Given the description of an element on the screen output the (x, y) to click on. 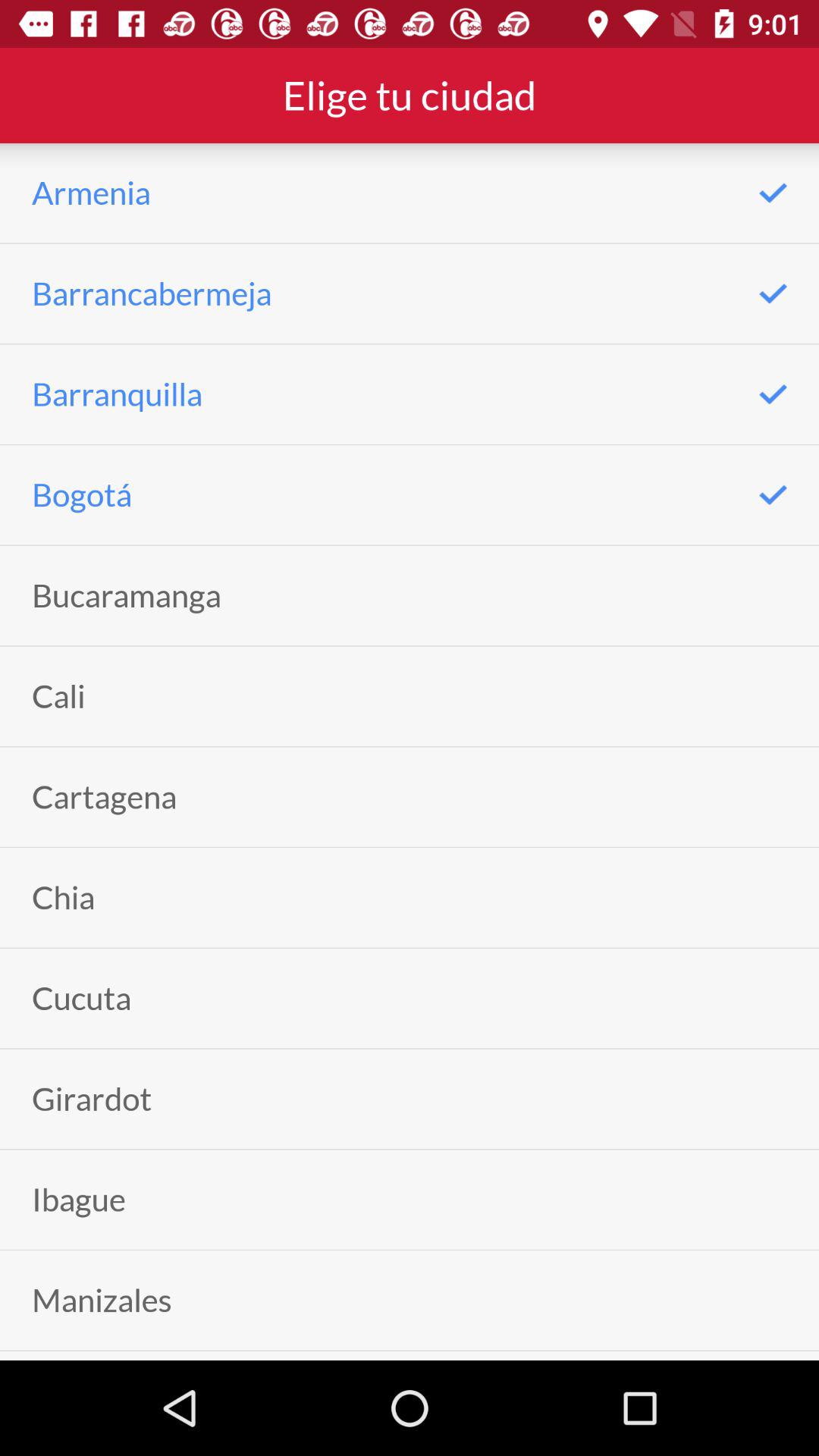
click item above the cali item (126, 595)
